Given the description of an element on the screen output the (x, y) to click on. 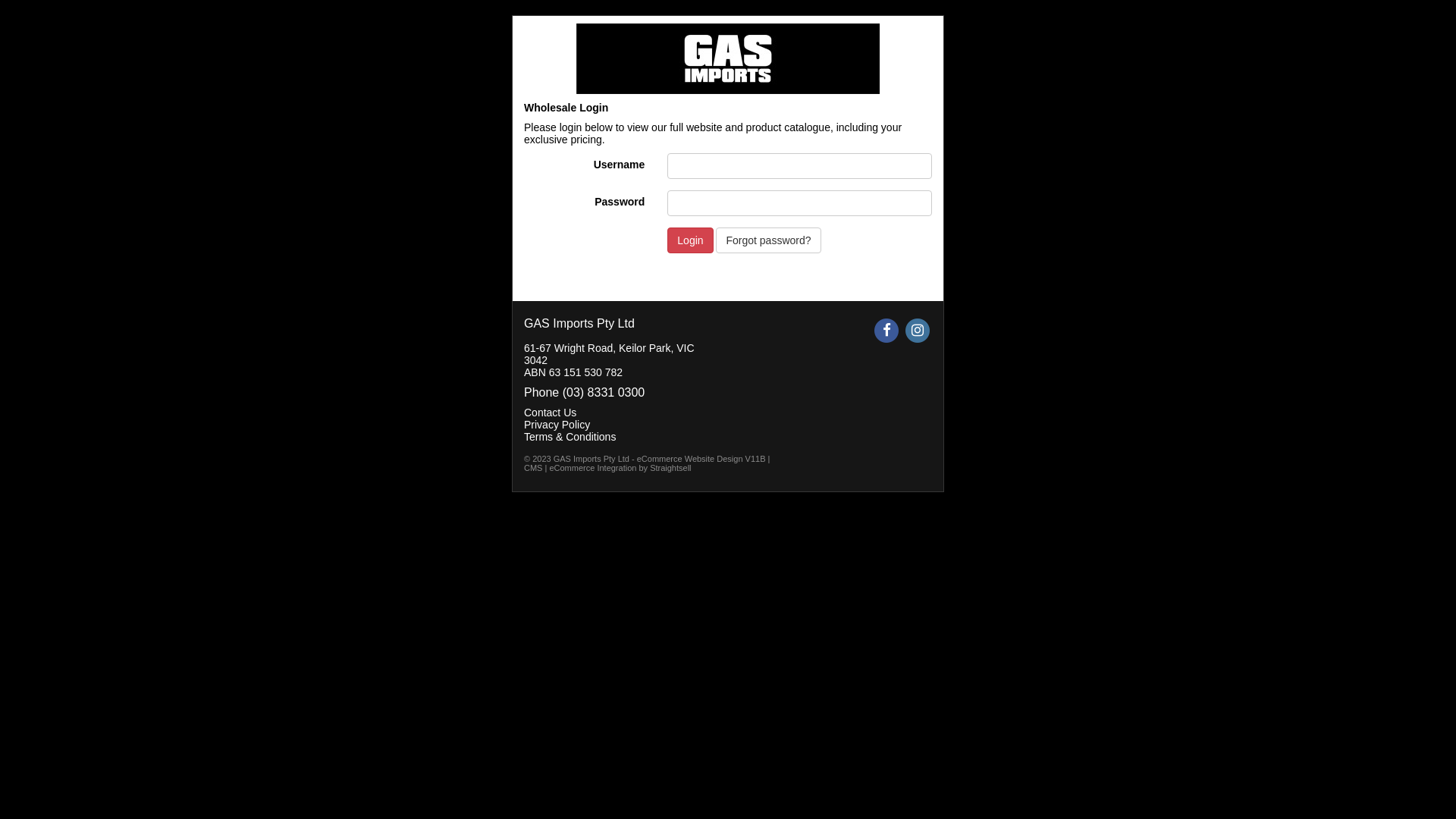
Terms & Conditions Element type: text (569, 436)
Contact Us Element type: text (550, 412)
CMS Element type: text (533, 467)
GAS Imports Pty Ltd Home Element type: hover (727, 58)
eCommerce Website Design Element type: text (690, 458)
Privacy Policy Element type: text (556, 424)
Phone (03) 8331 0300 Element type: text (584, 391)
Forgot password? Element type: text (767, 240)
Straightsell Element type: text (669, 467)
eCommerce Integration Element type: text (592, 467)
Login Element type: text (689, 240)
